Given the description of an element on the screen output the (x, y) to click on. 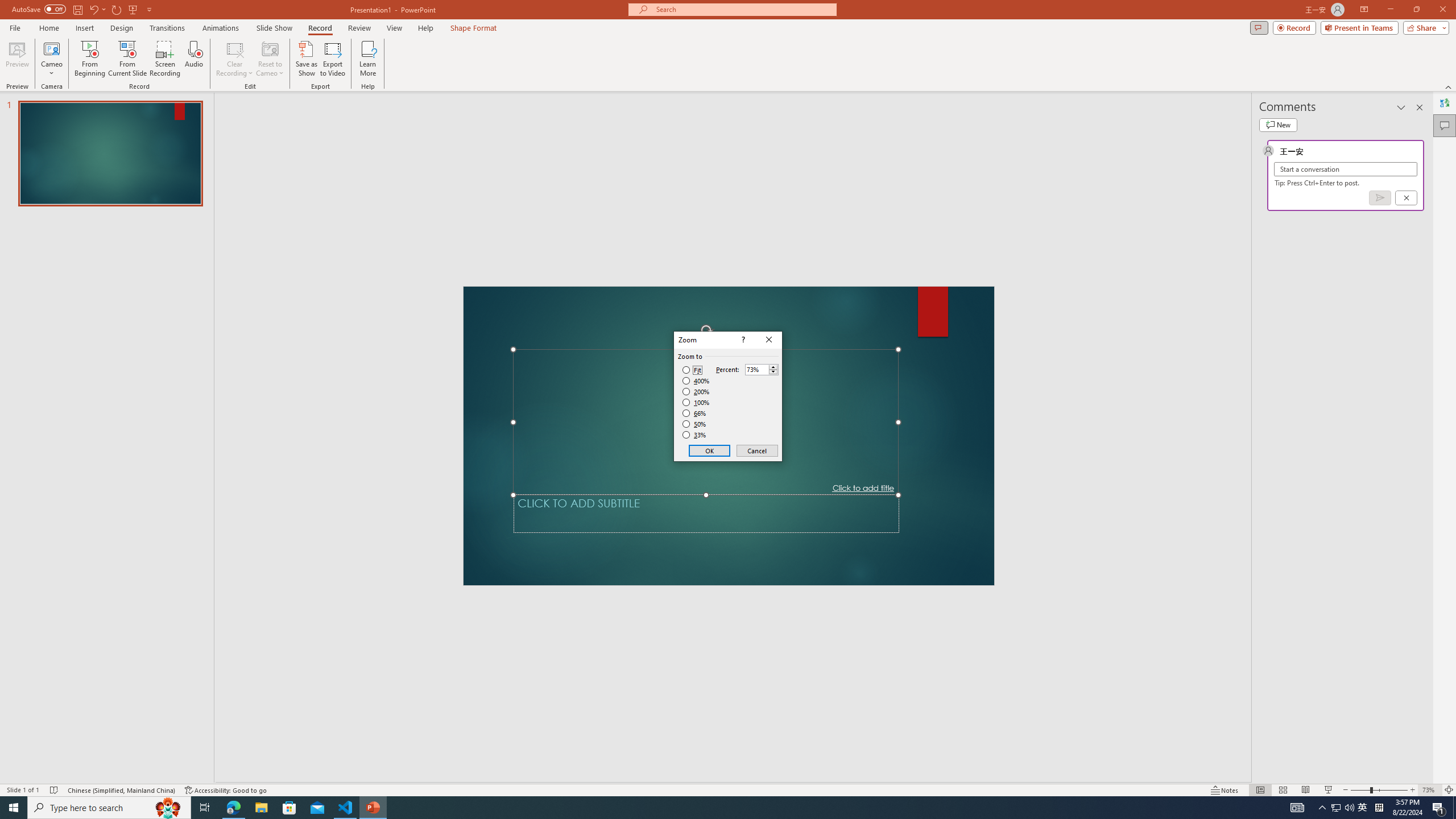
Tray Input Indicator - Chinese (Simplified, China) (1378, 807)
